Given the description of an element on the screen output the (x, y) to click on. 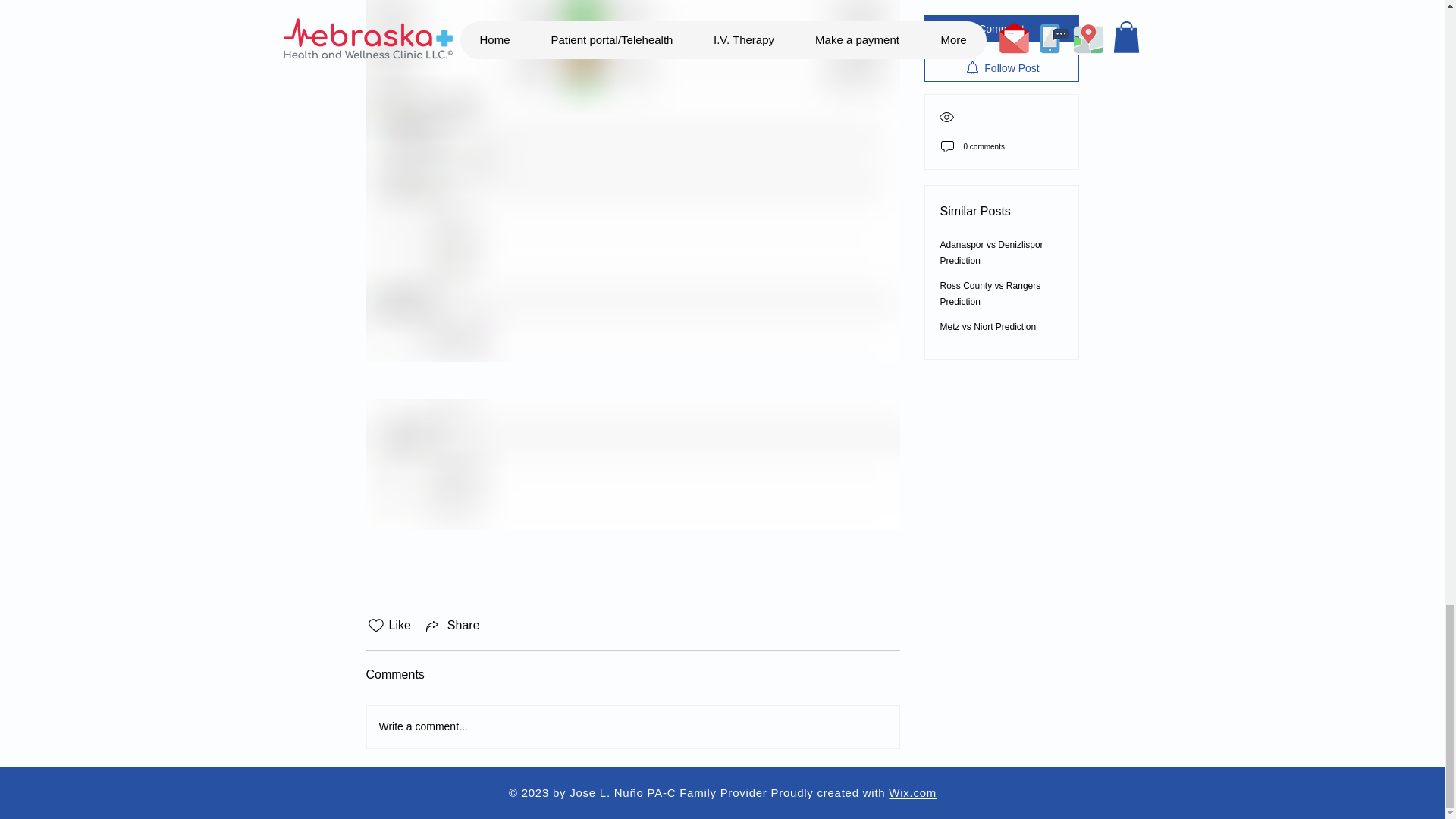
Wix.com (912, 792)
Write a comment... (632, 726)
Share (451, 625)
